Given the description of an element on the screen output the (x, y) to click on. 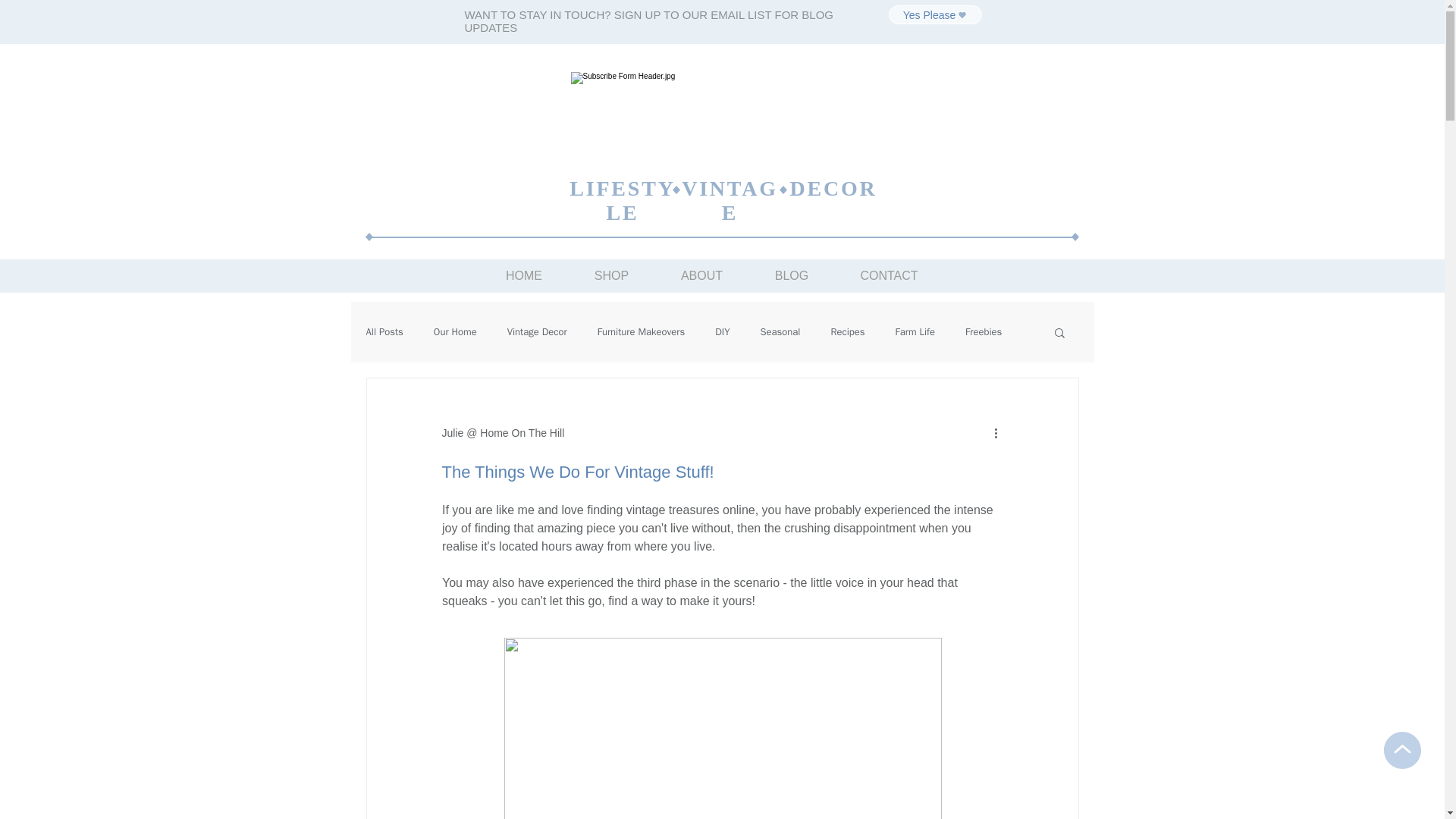
Yes Please (934, 14)
BLOG (791, 275)
DIY (721, 332)
All Posts (384, 332)
ABOUT (702, 275)
SHOP (612, 275)
Vintage Decor (536, 332)
HOME (523, 275)
Farm Life (914, 332)
Recipes (846, 332)
Seasonal (779, 332)
CONTACT (888, 275)
Our Home (455, 332)
Freebies (983, 332)
Furniture Makeovers (640, 332)
